Given the description of an element on the screen output the (x, y) to click on. 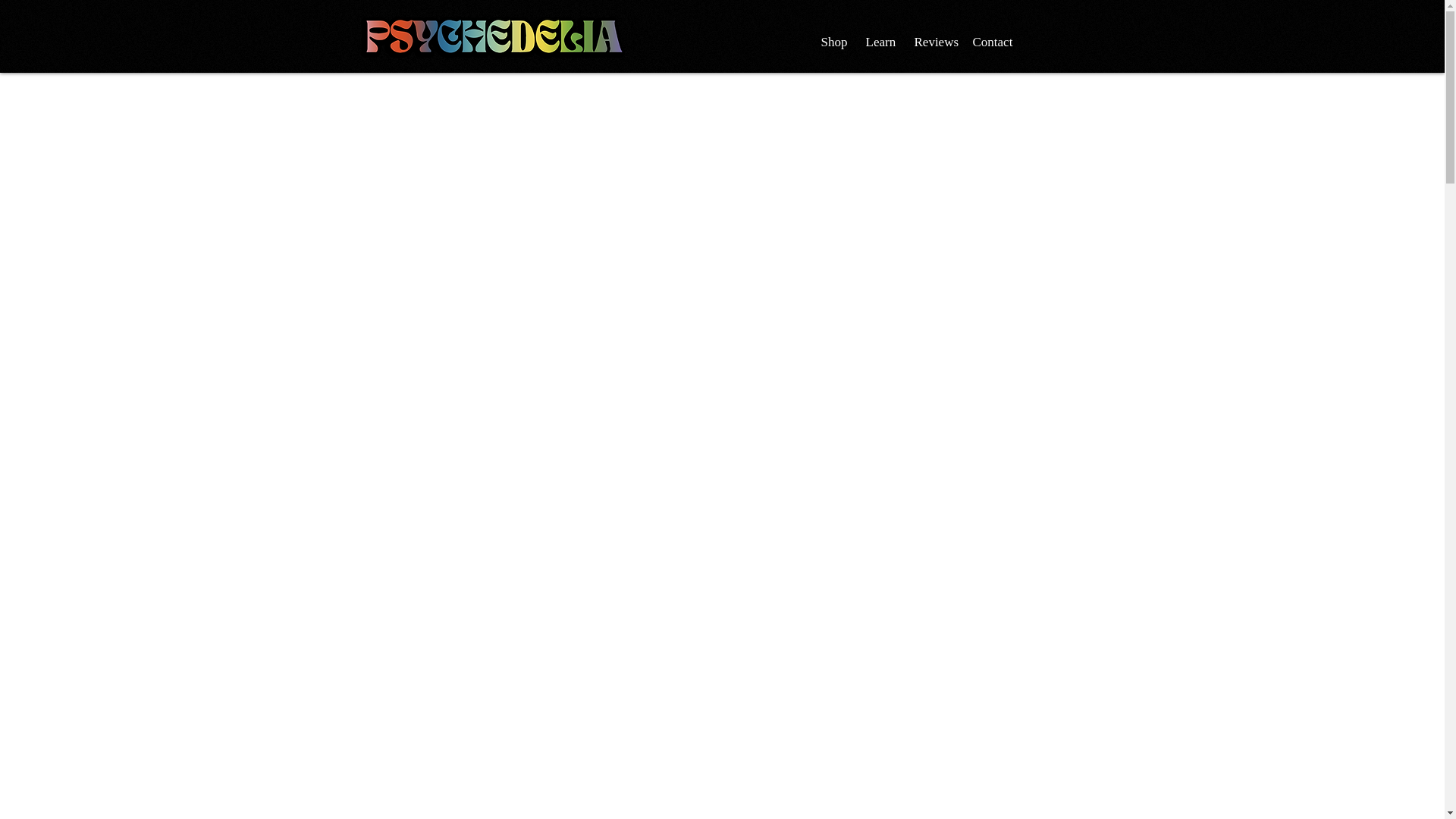
Shop (831, 42)
Learn (877, 42)
Reviews (931, 42)
Contact (991, 42)
